Given the description of an element on the screen output the (x, y) to click on. 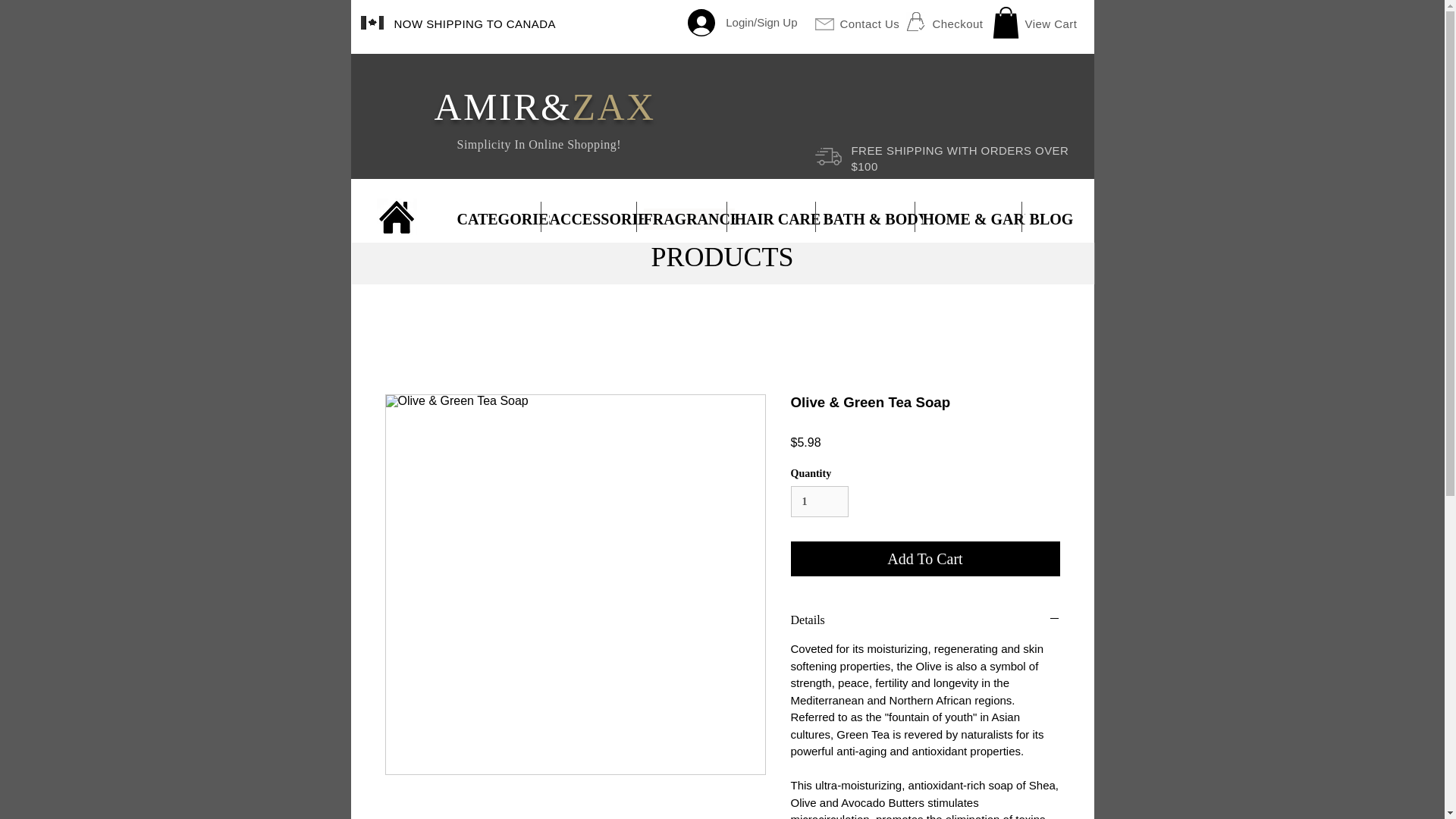
1 (818, 501)
Checkout (958, 23)
BLOG (1051, 219)
Add To Cart (924, 558)
CATEGORIES (506, 219)
Details (924, 620)
Contact Us (869, 23)
FRAGRANCE (691, 219)
HAIR CARE (777, 219)
ACCESSORIES (602, 219)
